Given the description of an element on the screen output the (x, y) to click on. 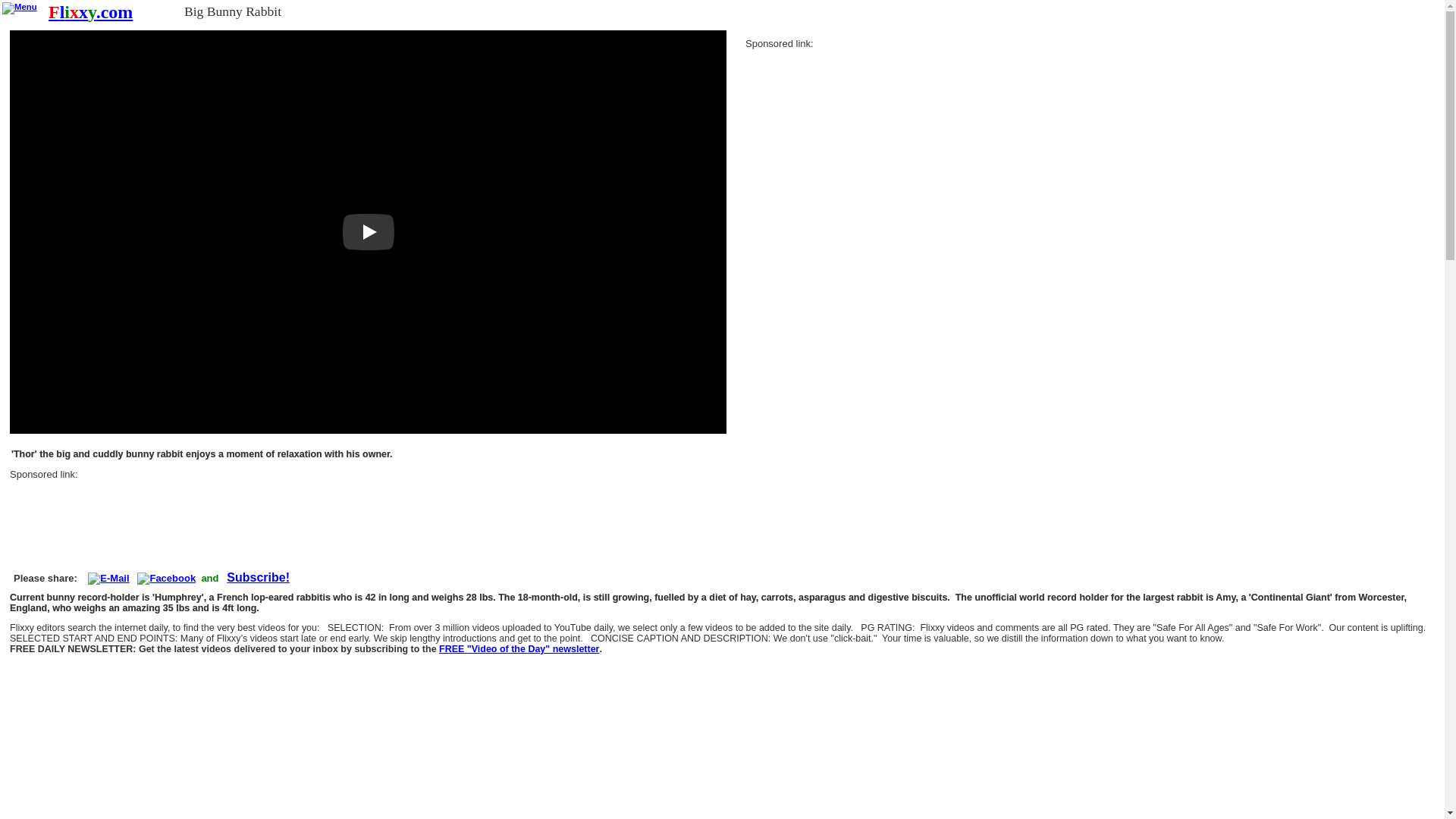
Menu (19, 8)
Subscribe! (518, 649)
Share via E-mail (108, 578)
Home (89, 12)
Play (368, 231)
FREE "Video of the Day" newsletter (518, 649)
Share via Facebook (165, 578)
Flixxy.com (89, 12)
FREE Newsletter (258, 578)
Subscribe! (258, 578)
